Given the description of an element on the screen output the (x, y) to click on. 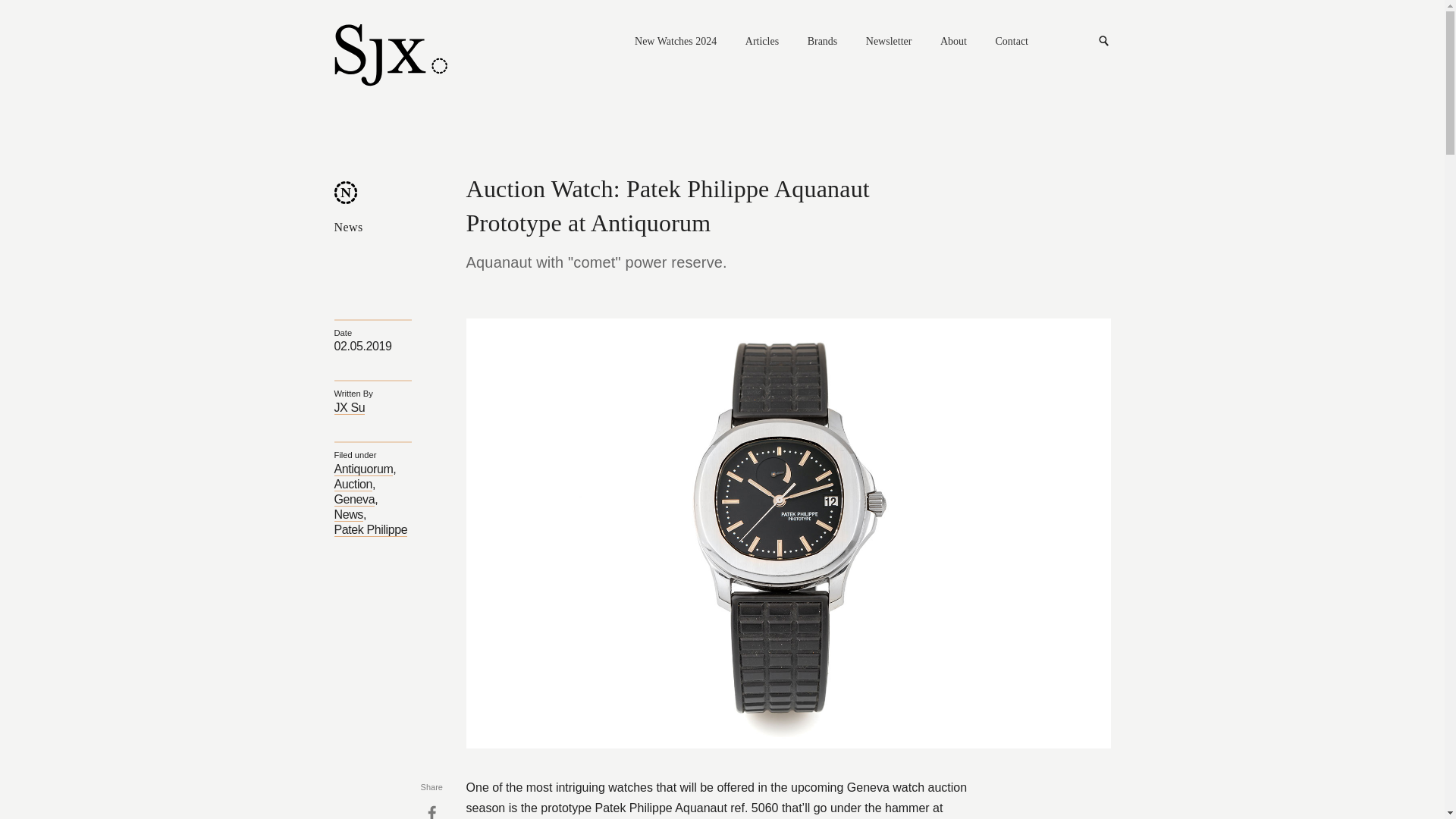
Articles (762, 42)
New Watches 2024 (675, 42)
Search (1103, 40)
Posts by JX Su (349, 407)
Brands (823, 42)
About (953, 42)
Newsletter (889, 42)
Contact (1010, 42)
